Given the description of an element on the screen output the (x, y) to click on. 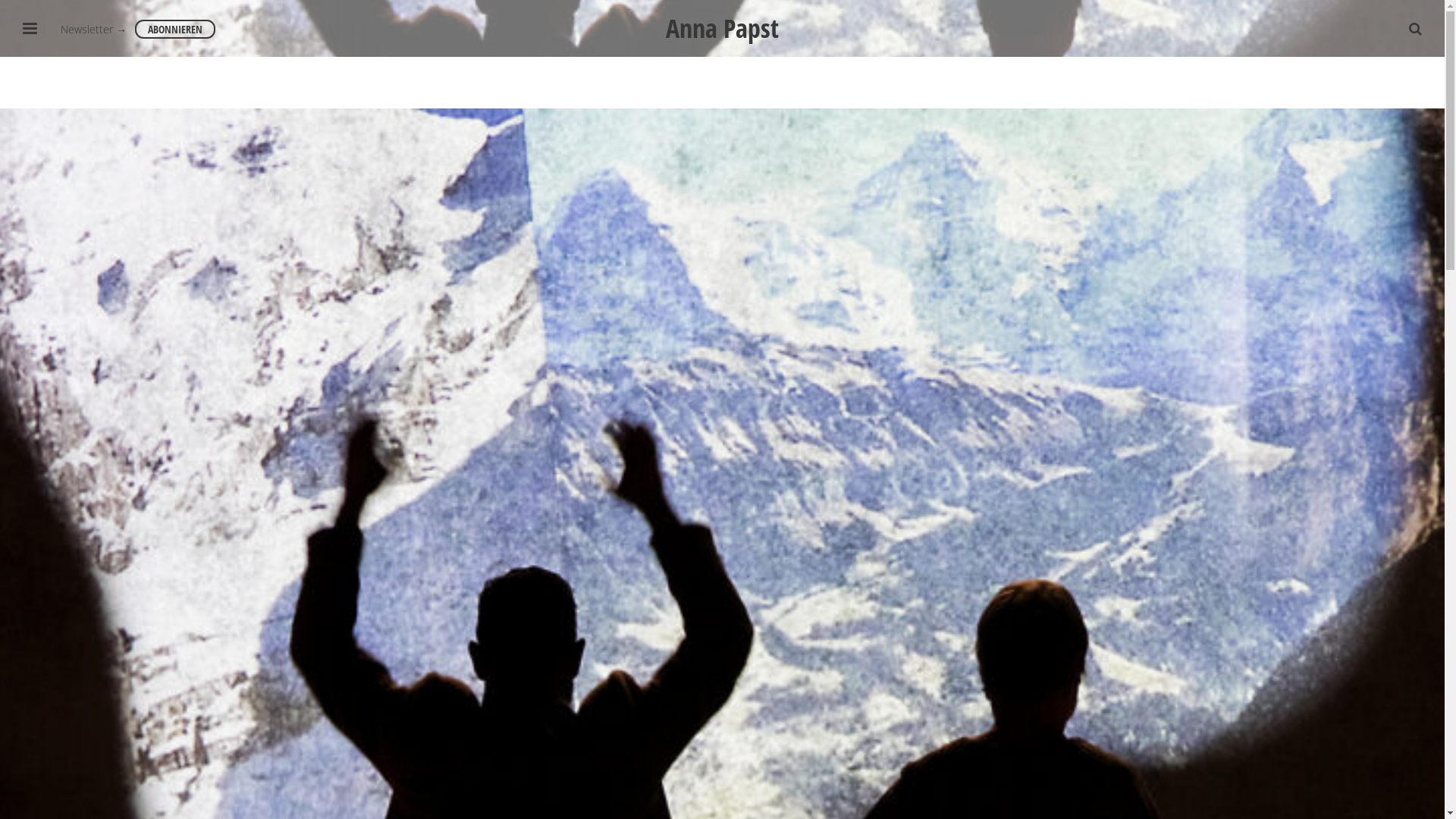
Anna Papst Element type: text (721, 24)
ABONNIEREN Element type: text (174, 28)
Abonnieren Element type: text (1087, 472)
